Given the description of an element on the screen output the (x, y) to click on. 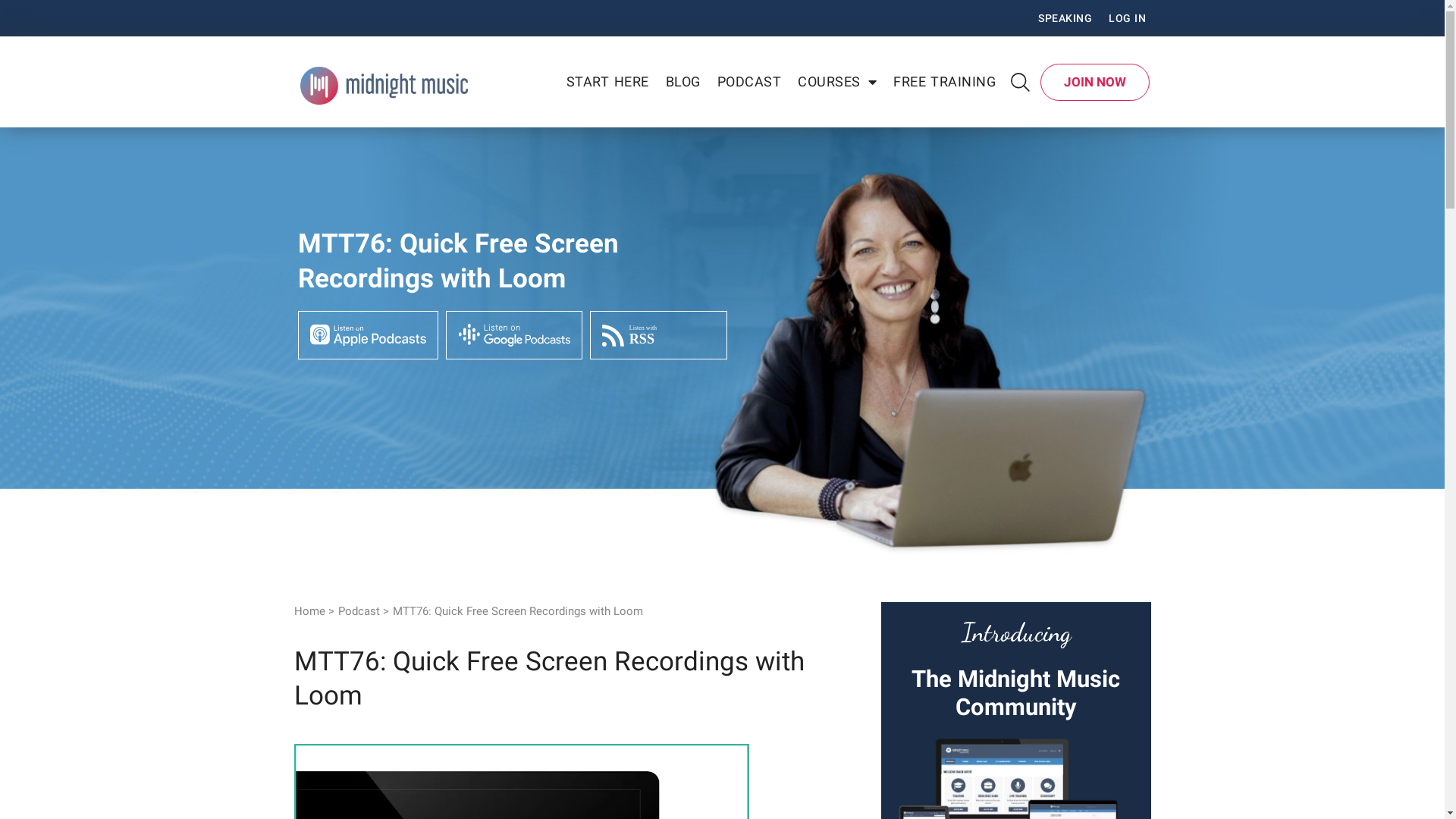
PODCAST Element type: text (749, 81)
SPEAKING Element type: text (1064, 18)
FREE TRAINING Element type: text (944, 81)
JOIN NOW Element type: text (1094, 81)
LOG IN Element type: text (1127, 18)
START HERE Element type: text (607, 81)
BLOG Element type: text (683, 81)
COURSES Element type: text (836, 81)
Podcast > Element type: text (363, 611)
Home > Element type: text (314, 611)
